Given the description of an element on the screen output the (x, y) to click on. 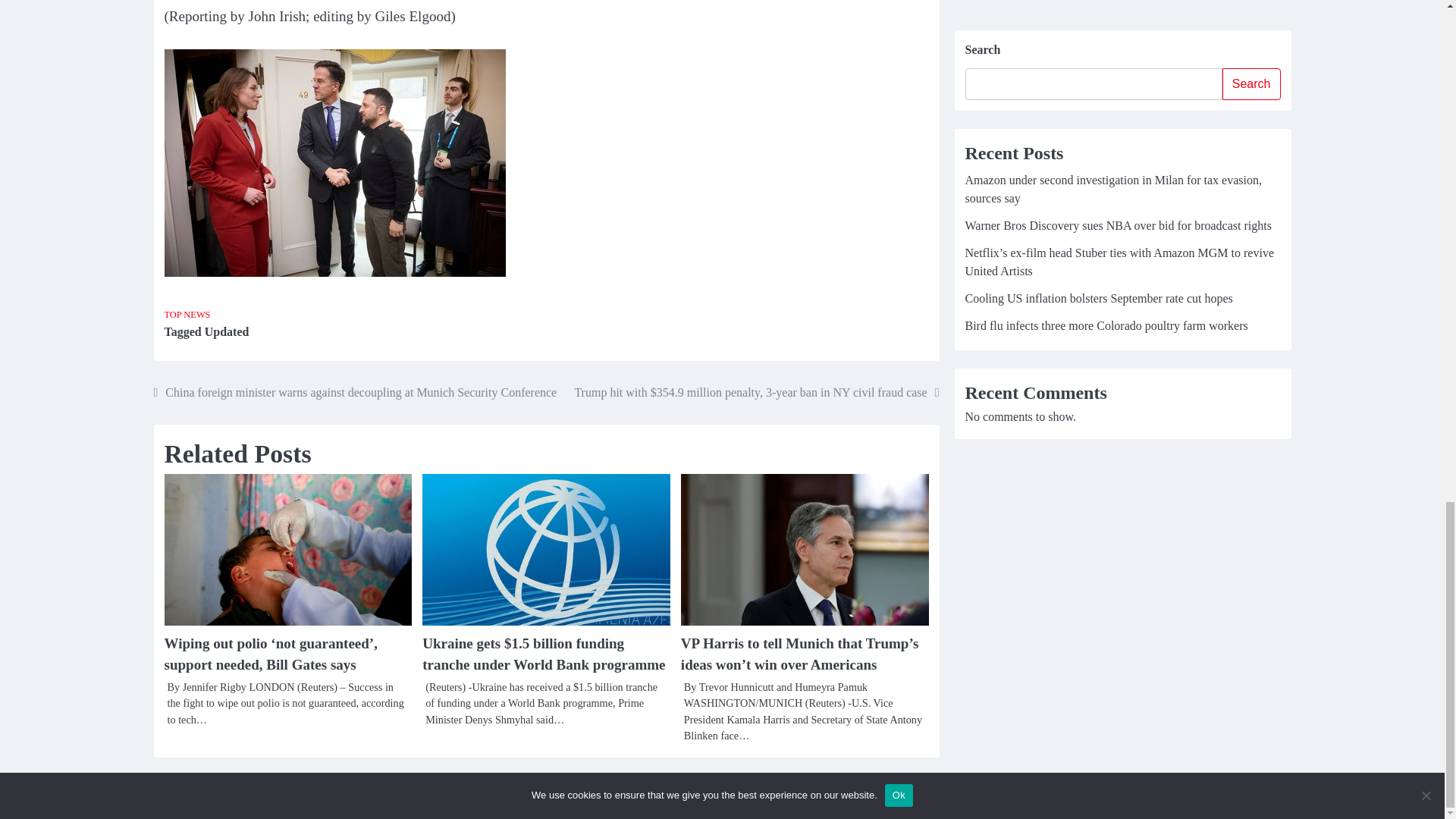
Ascendoor (777, 795)
WordPress (884, 795)
TOP NEWS (186, 314)
Updated (226, 331)
Market Spectator (651, 795)
